Given the description of an element on the screen output the (x, y) to click on. 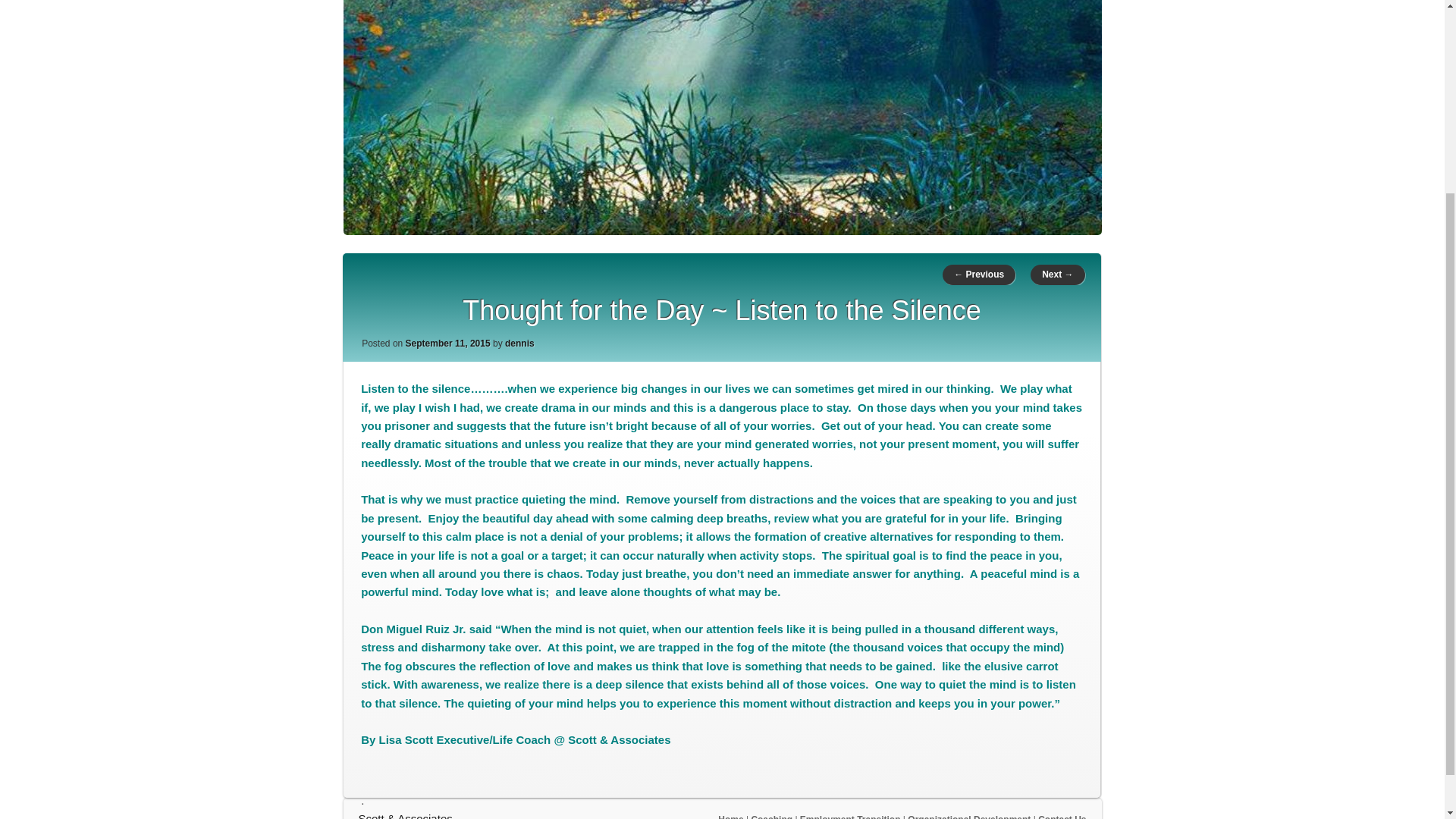
View all posts by dennis (519, 343)
10:57 am (448, 343)
dennis (519, 343)
September 11, 2015 (448, 343)
